Given the description of an element on the screen output the (x, y) to click on. 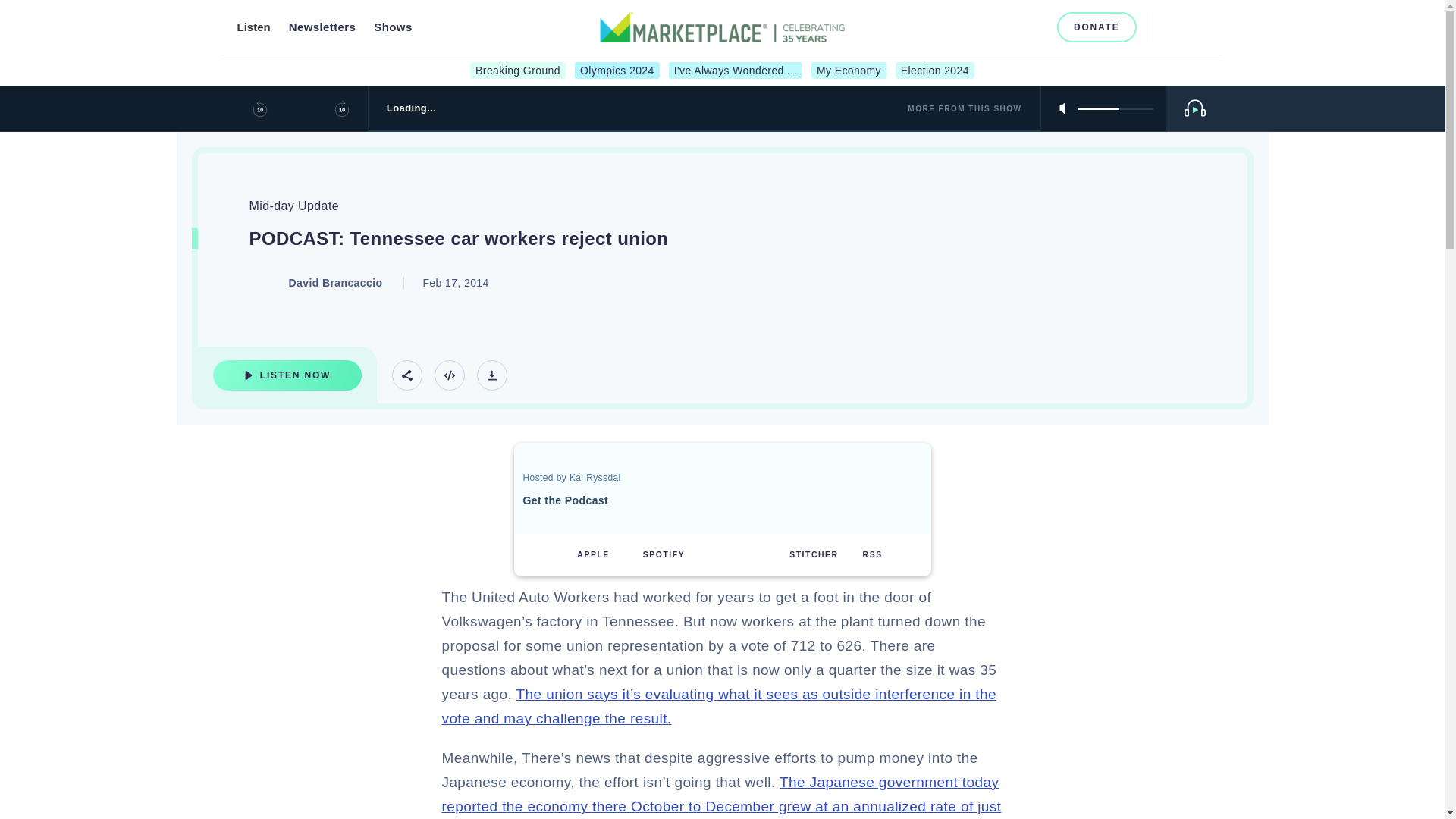
Listen Now (286, 374)
Shows (393, 26)
Youtube (1011, 27)
5 (1115, 108)
DONATE (1097, 27)
Facebook (962, 27)
Search (1164, 27)
TikTok (1035, 27)
Listen (252, 26)
